Given the description of an element on the screen output the (x, y) to click on. 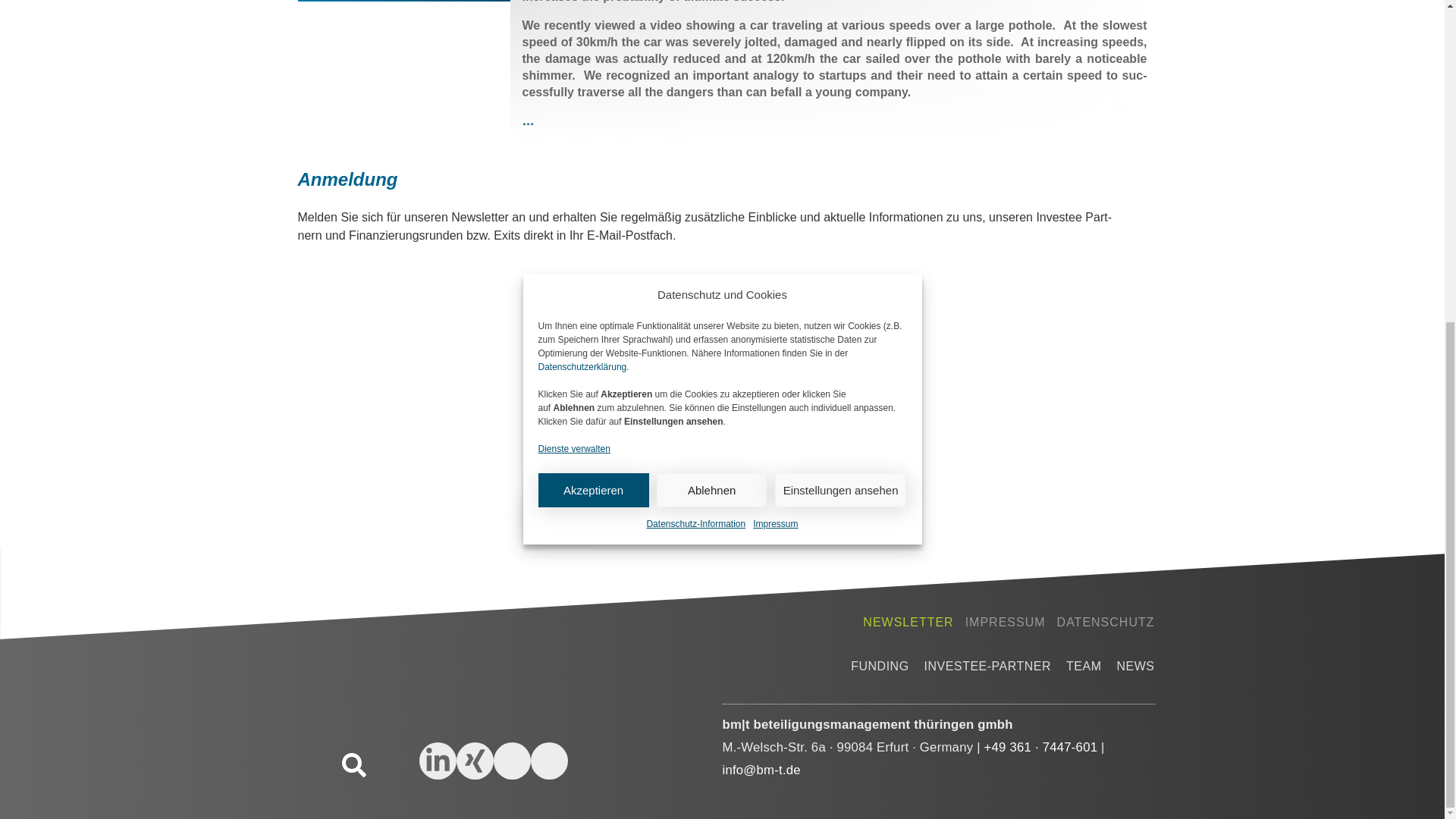
on (527, 440)
Anmelden (555, 512)
Datenschutz-Information (695, 4)
Impressum (774, 4)
